Given the description of an element on the screen output the (x, y) to click on. 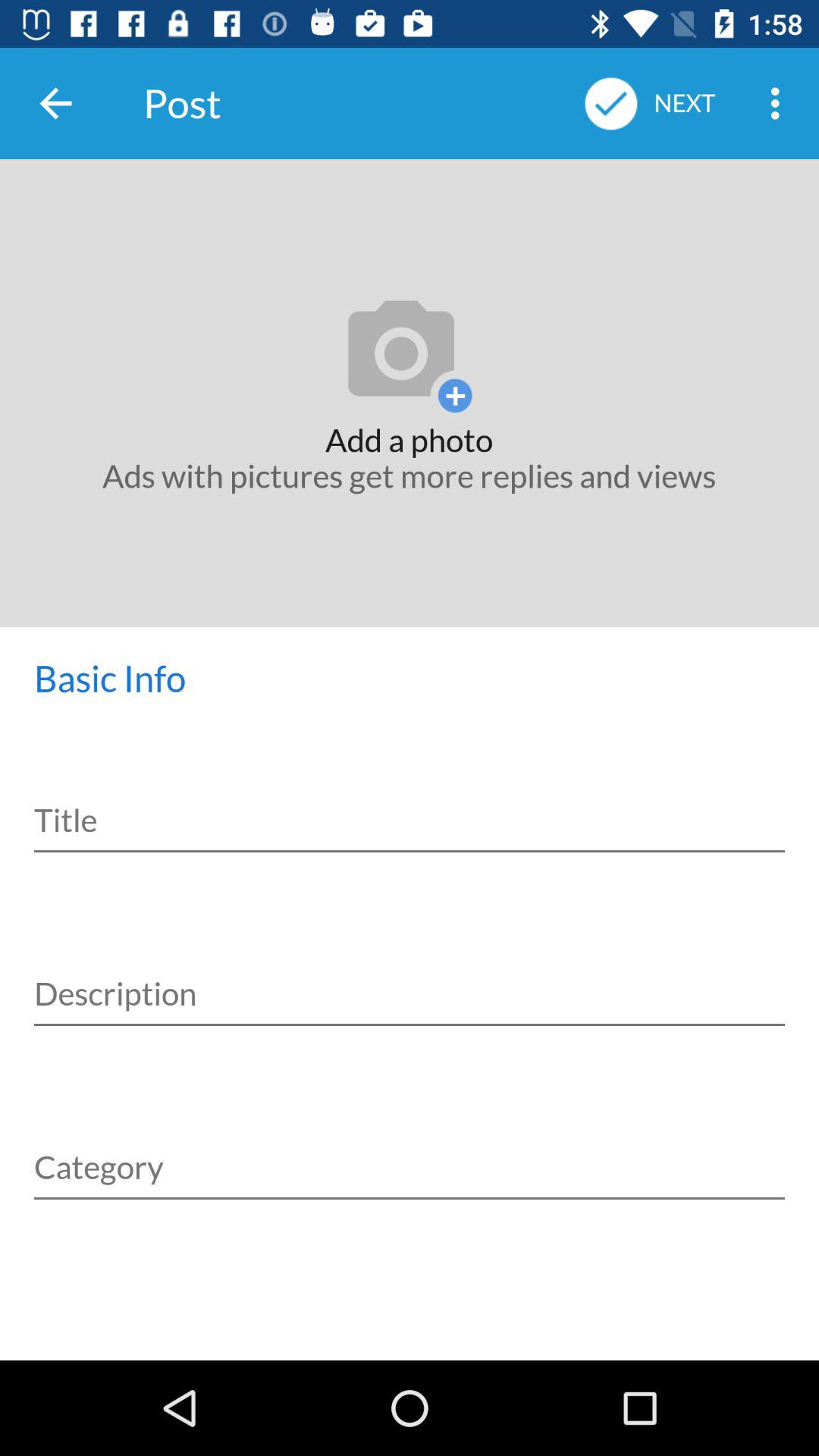
category (409, 1150)
